Given the description of an element on the screen output the (x, y) to click on. 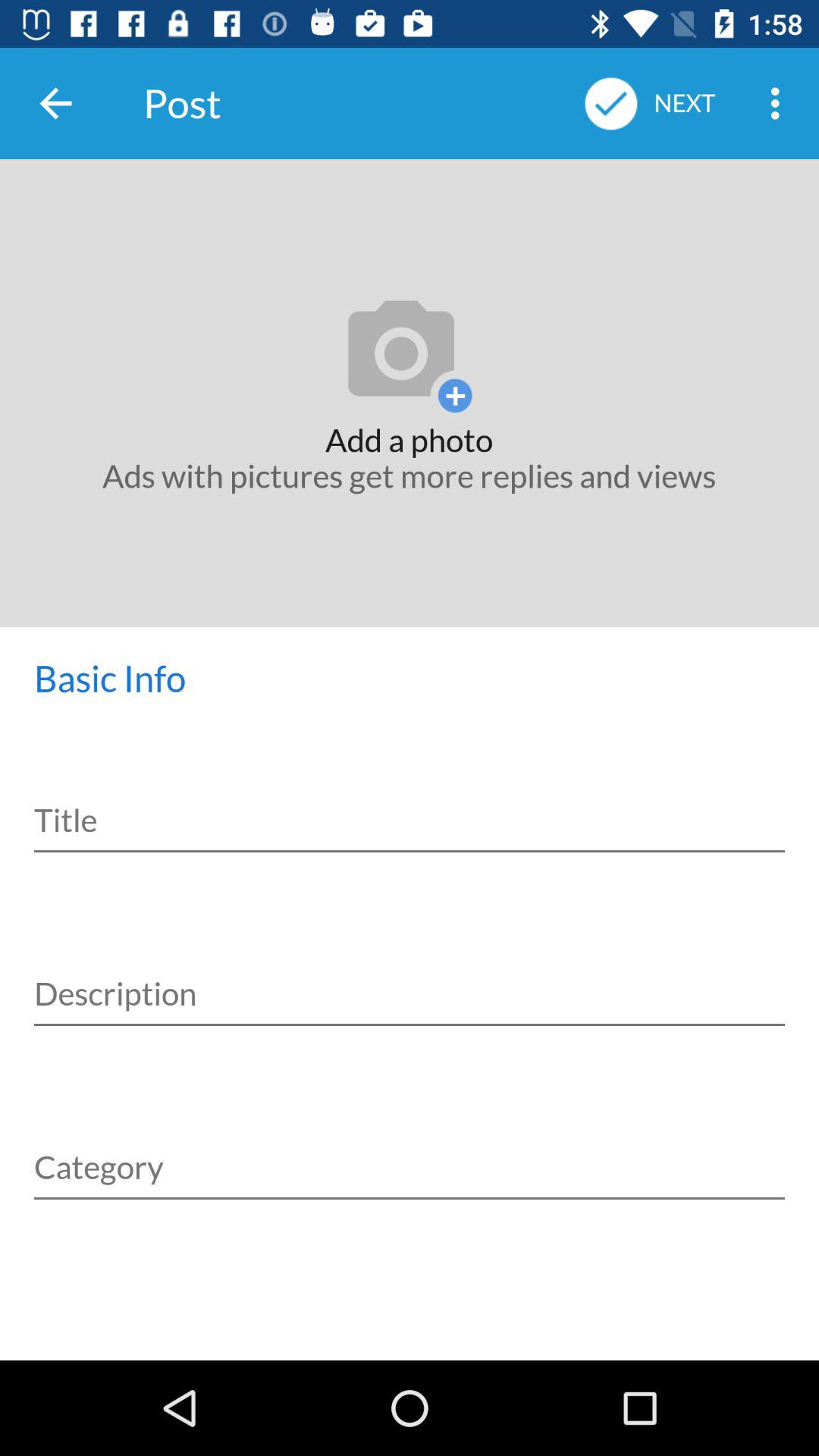
category (409, 1150)
